Given the description of an element on the screen output the (x, y) to click on. 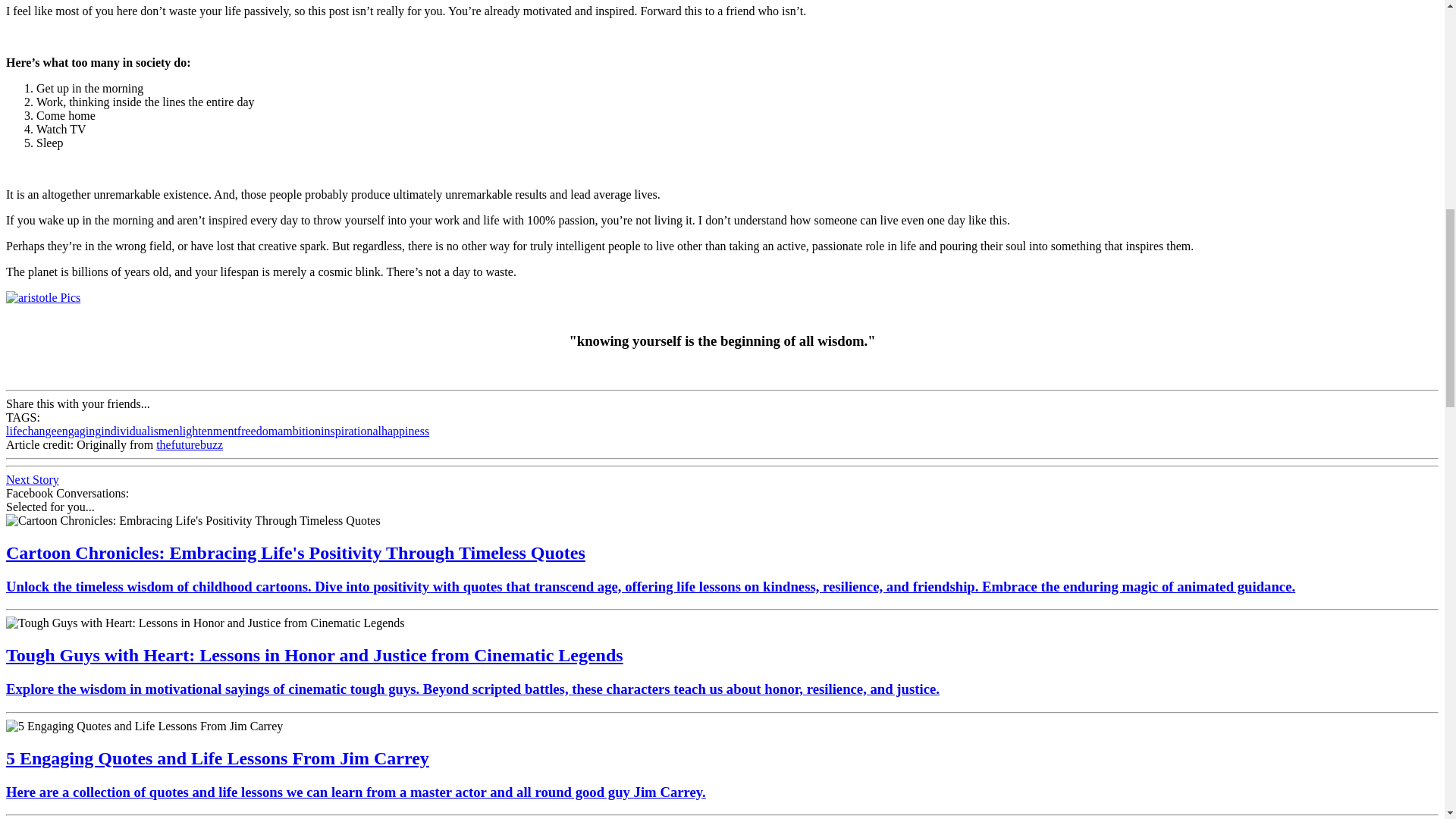
happiness (405, 431)
enlightenment (202, 431)
Next Story (32, 479)
engaging (78, 431)
life (13, 431)
freedom (257, 431)
individualism (133, 431)
inspirational (350, 431)
ambition (299, 431)
thefuturebuzz (188, 444)
